Given the description of an element on the screen output the (x, y) to click on. 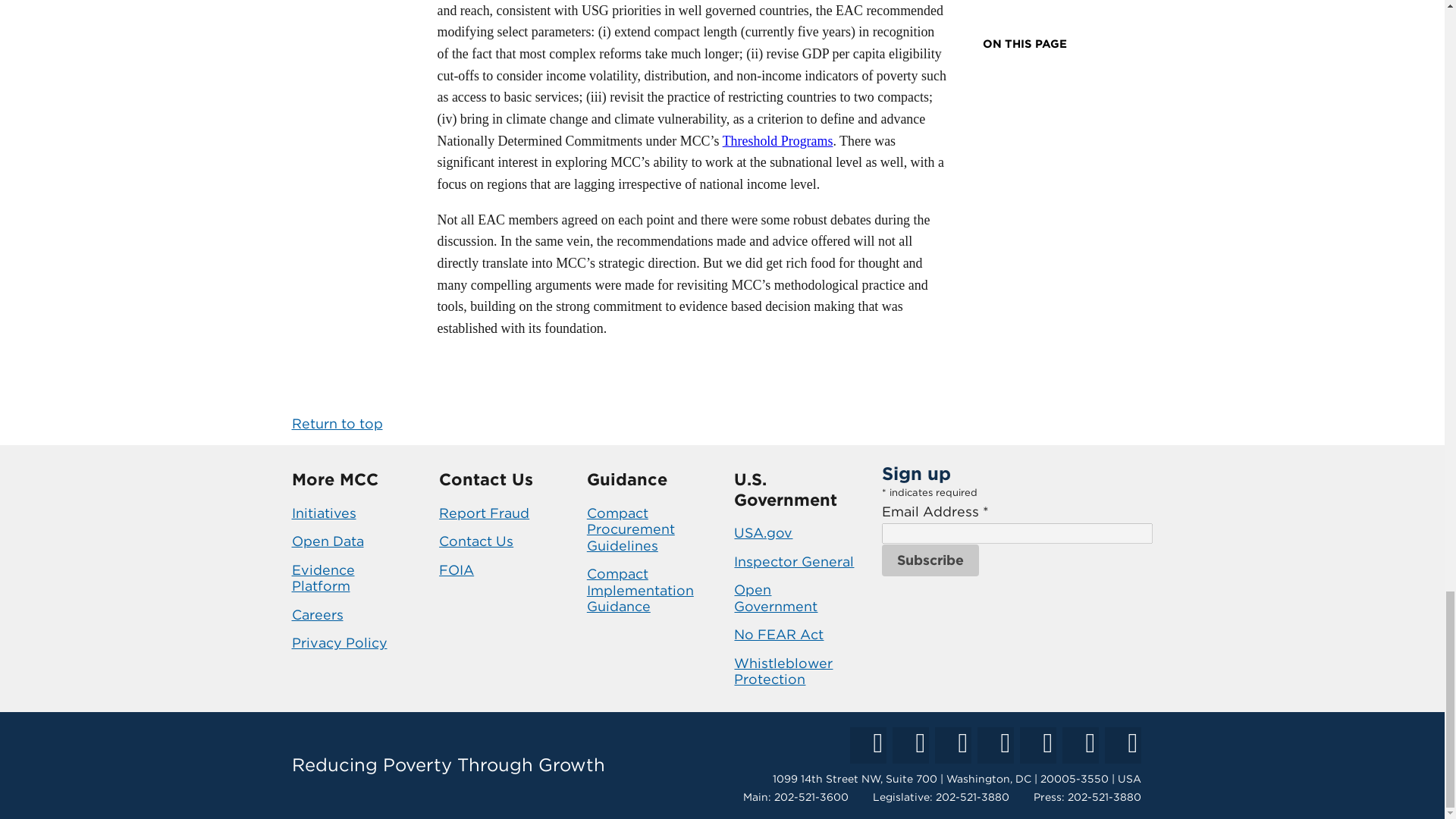
Privacy Policy (339, 642)
USA.gov (762, 532)
Subscribe (930, 560)
Compact Procurement Guidelines (630, 529)
Open Data (326, 540)
Inspector General (793, 561)
Threshold Programs (777, 140)
Careers (316, 614)
Subscribe (930, 560)
FOIA (456, 569)
Open Government (774, 597)
Return to top (336, 423)
Compact Implementation Guidance (640, 589)
Initiatives (323, 512)
No FEAR Act (778, 634)
